Given the description of an element on the screen output the (x, y) to click on. 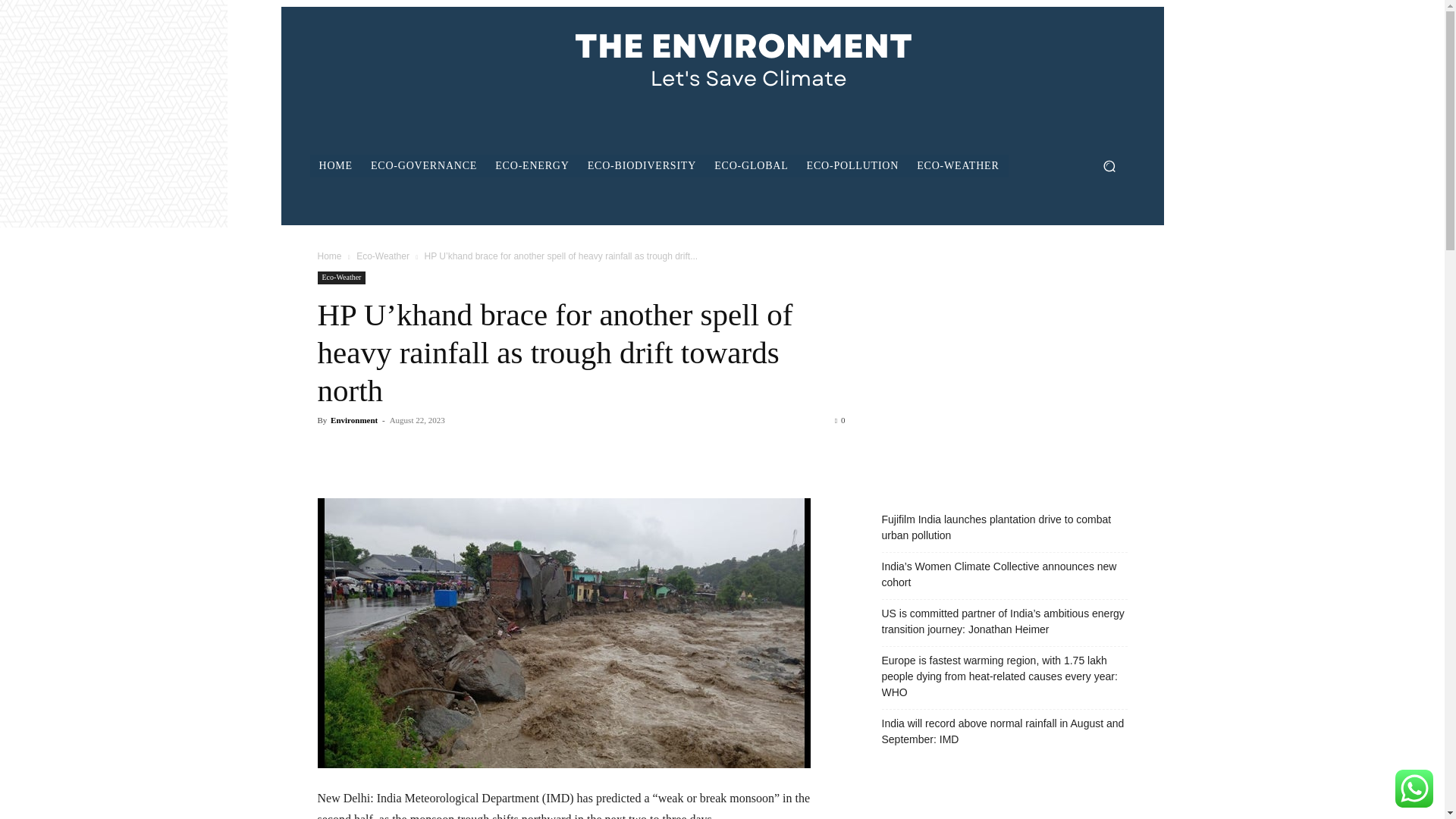
Himachal flood 1 (563, 632)
Environment (353, 420)
ECO-POLLUTION (852, 165)
ECO-GOVERNANCE (423, 165)
0 (839, 420)
ECO-GLOBAL (750, 165)
Home (328, 255)
HOME (334, 165)
ECO-ENERGY (532, 165)
Eco-Weather (341, 277)
